Given the description of an element on the screen output the (x, y) to click on. 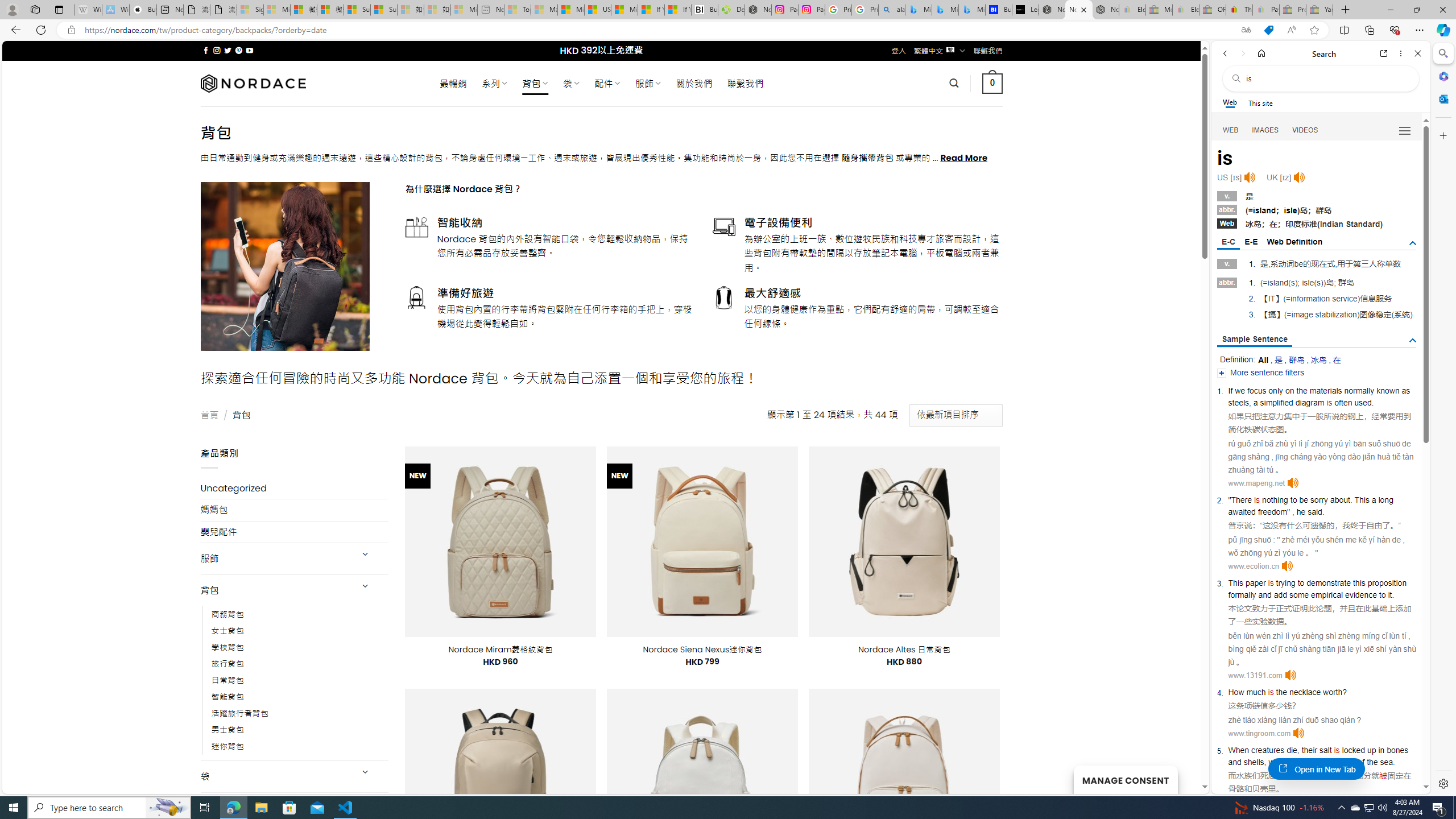
AutomationID: tgdef_sen (1412, 340)
bones (1397, 750)
